Given the description of an element on the screen output the (x, y) to click on. 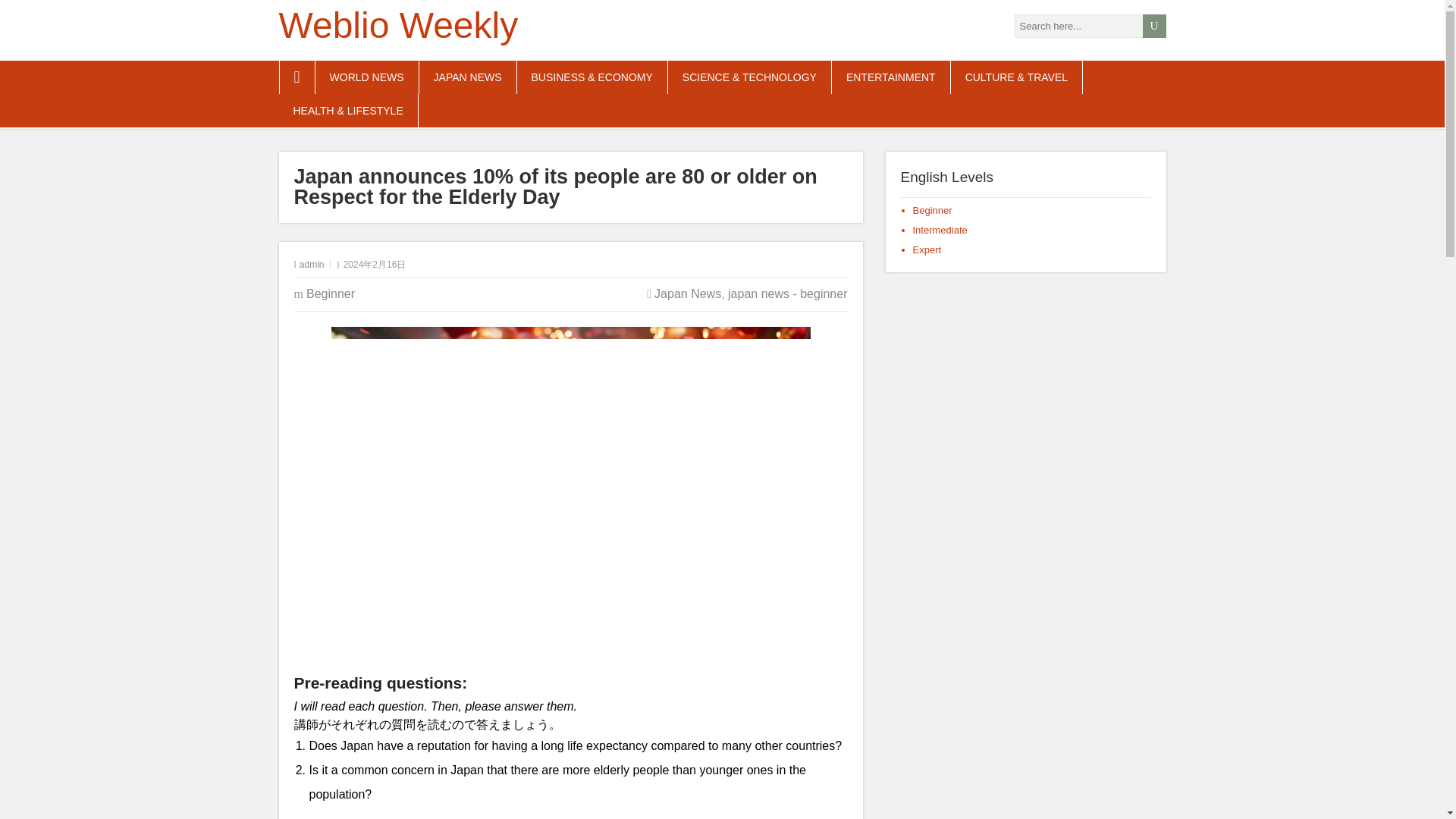
japan news - beginner (787, 293)
JAPAN NEWS (467, 77)
Posts by admin (311, 264)
Japan News (686, 293)
U (1153, 25)
Beginner (932, 210)
ENTERTAINMENT (890, 77)
Beginner (330, 293)
Weblio Weekly (398, 24)
U (1153, 25)
